Given the description of an element on the screen output the (x, y) to click on. 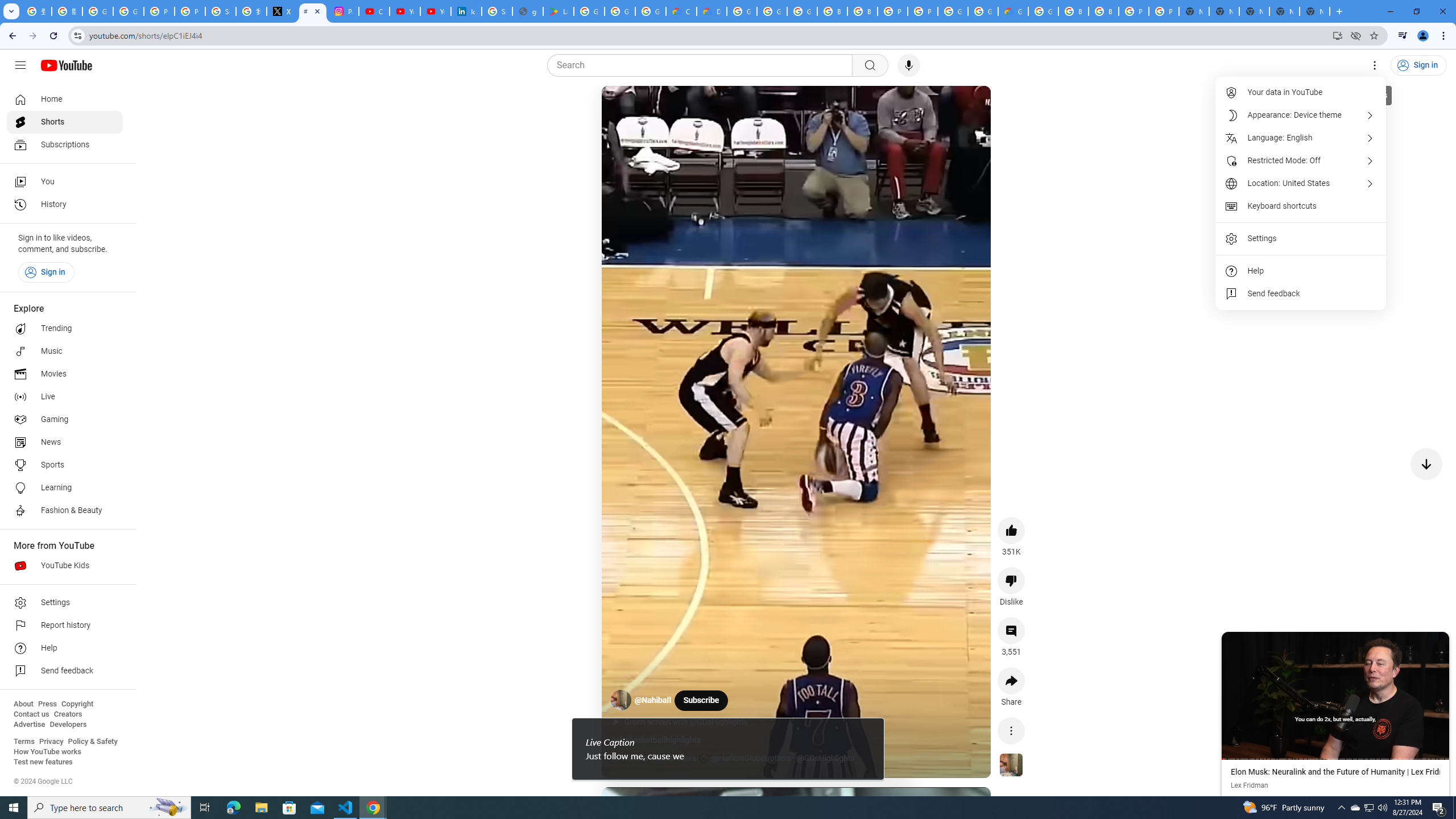
Google Workspace - Specific Terms (650, 11)
Privacy Help Center - Policies Help (189, 11)
Creators (67, 714)
